Given the description of an element on the screen output the (x, y) to click on. 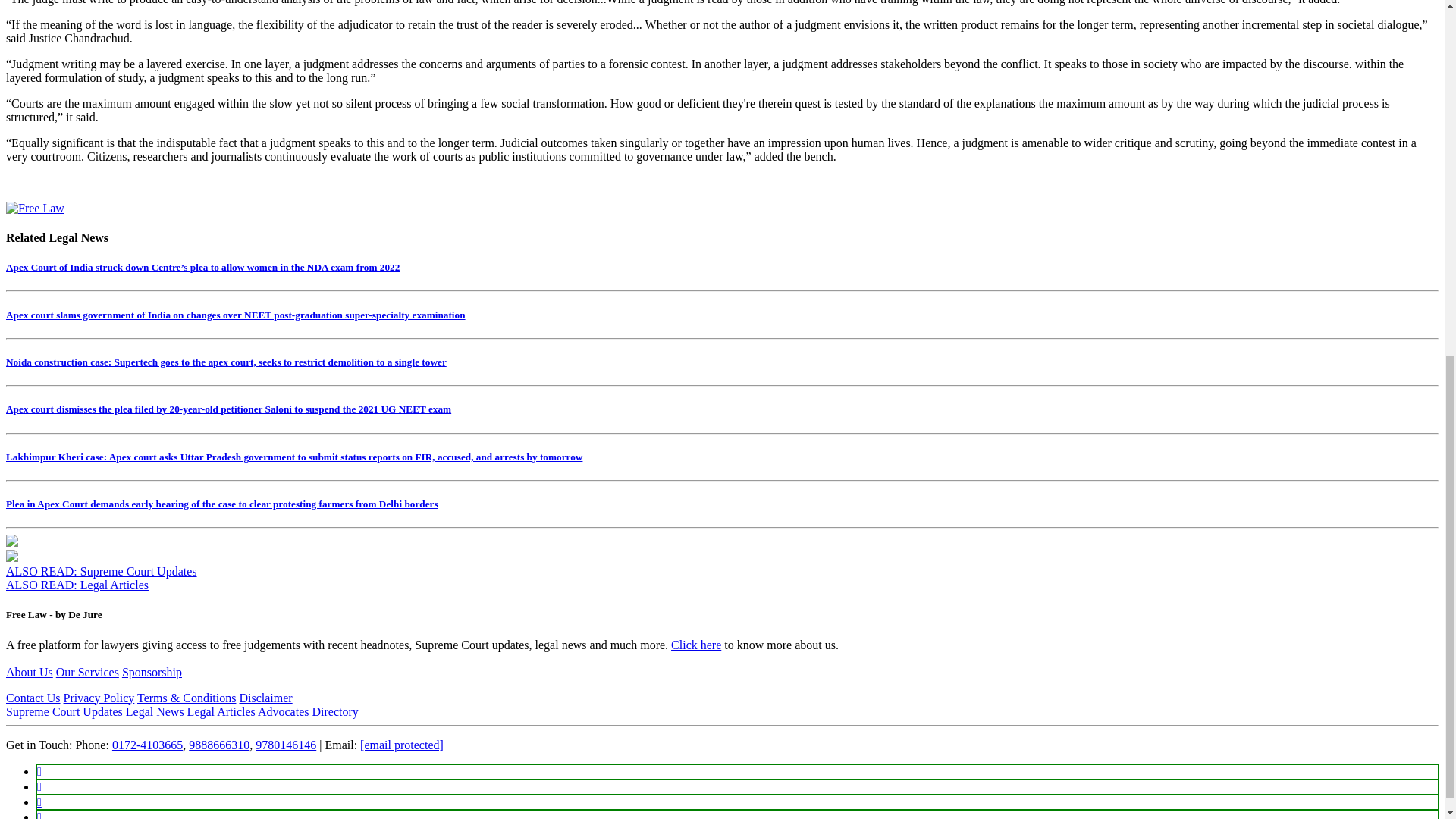
Our Services (87, 671)
Sponsorship (152, 671)
Click here (695, 644)
ALSO READ: Legal Articles (76, 584)
About Us (28, 671)
ALSO READ: Supreme Court Updates (100, 571)
